Given the description of an element on the screen output the (x, y) to click on. 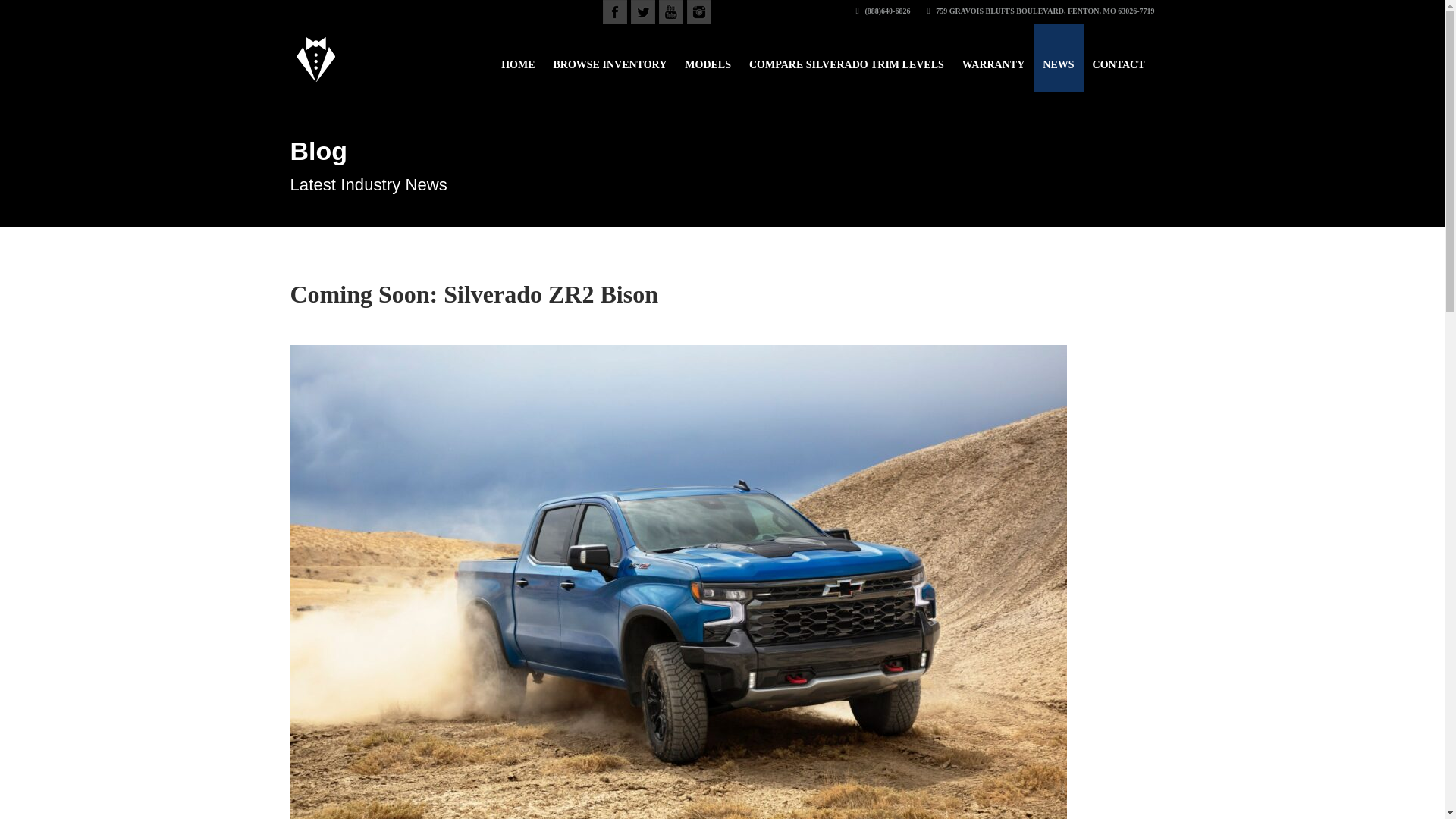
CONTACT (1118, 57)
MODELS (707, 57)
759 GRAVOIS BLUFFS BOULEVARD, FENTON, MO 63026-7719 (1040, 10)
BROWSE INVENTORY (610, 57)
COMPARE SILVERADO TRIM LEVELS (846, 57)
WARRANTY (993, 57)
